Given the description of an element on the screen output the (x, y) to click on. 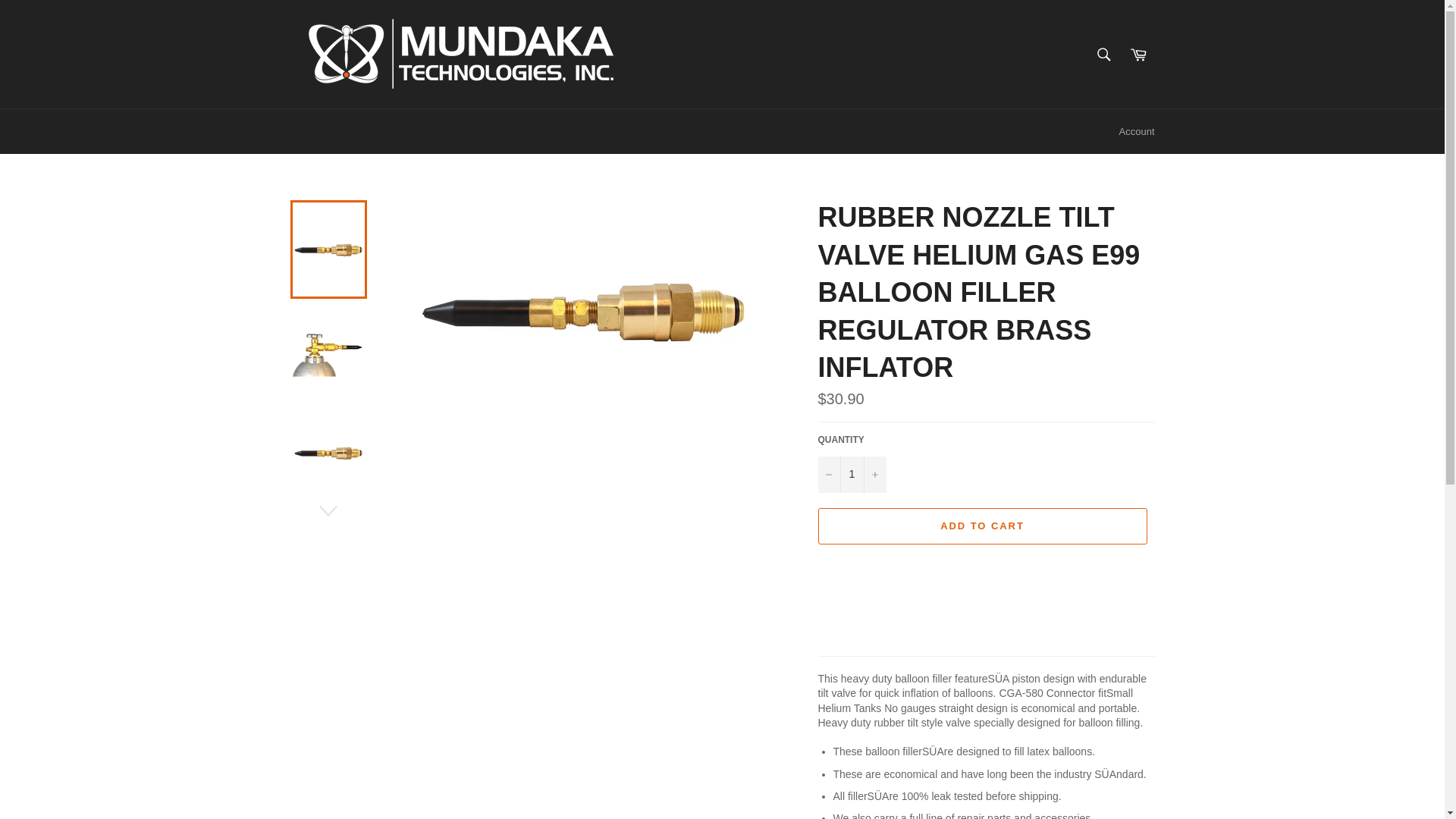
Search (1102, 53)
Cart (1138, 53)
Account (1136, 131)
1 (850, 474)
ADD TO CART (981, 525)
